Given the description of an element on the screen output the (x, y) to click on. 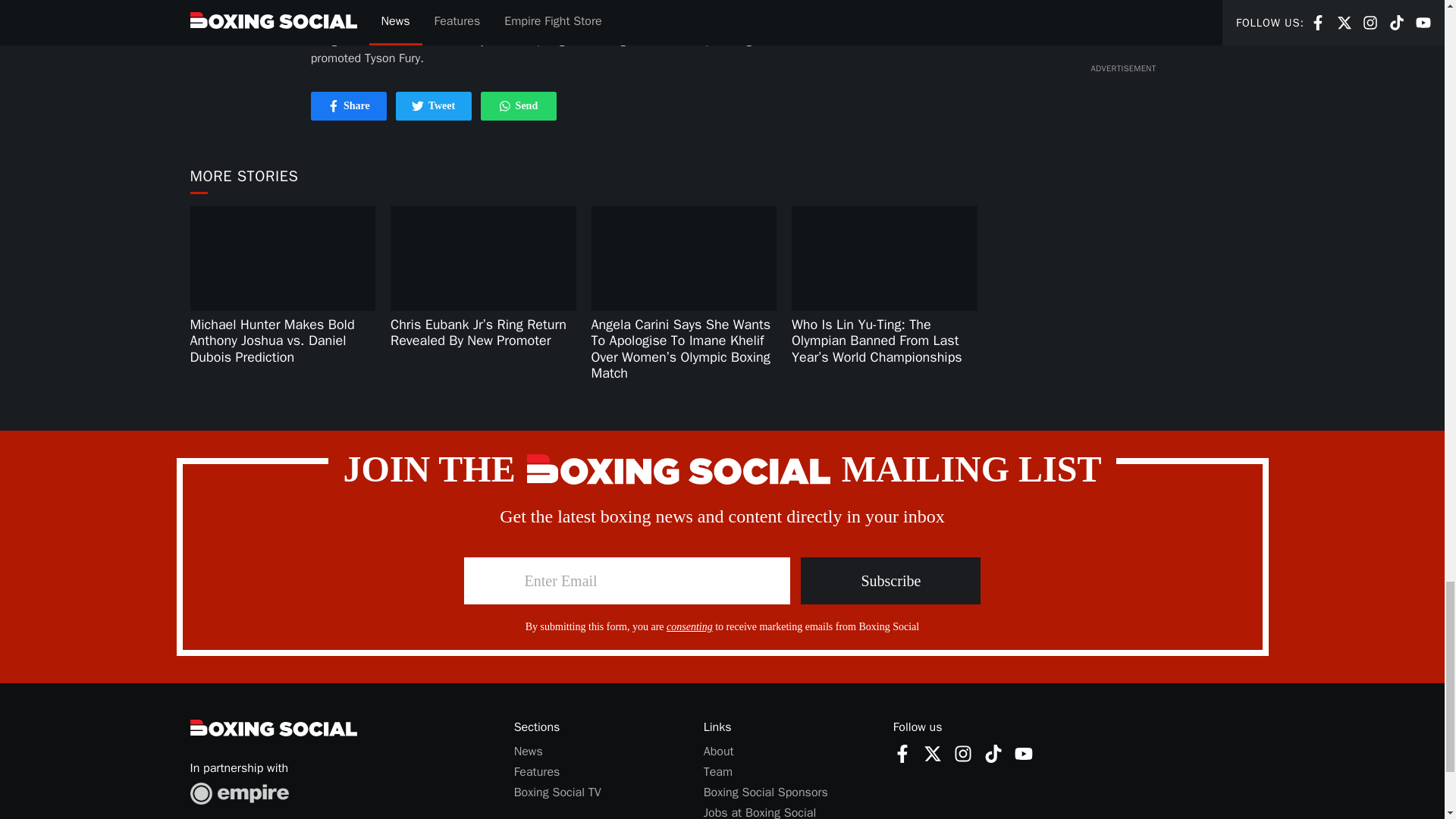
consenting (689, 626)
Boxing Social Sponsors (765, 792)
WhatsApp (505, 105)
TikTok (993, 753)
Subscribe (889, 579)
Features (536, 771)
Jobs at Boxing Social (759, 812)
Boxing Social TV (557, 792)
About (518, 106)
X (718, 751)
Instagram (932, 753)
Team (962, 753)
Facebook (717, 771)
